Given the description of an element on the screen output the (x, y) to click on. 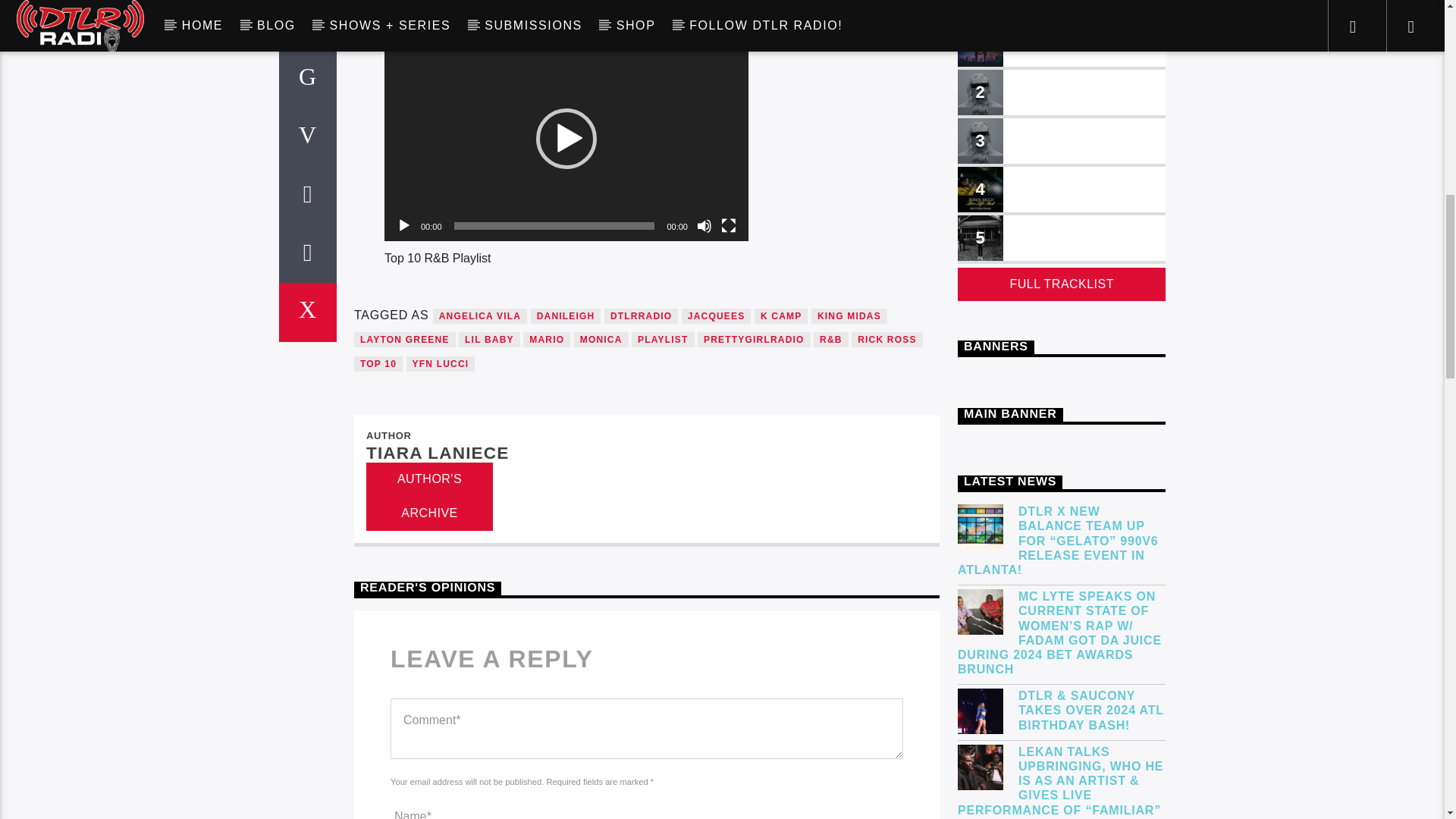
Fullscreen (728, 225)
Play (404, 225)
Mute (704, 225)
